Given the description of an element on the screen output the (x, y) to click on. 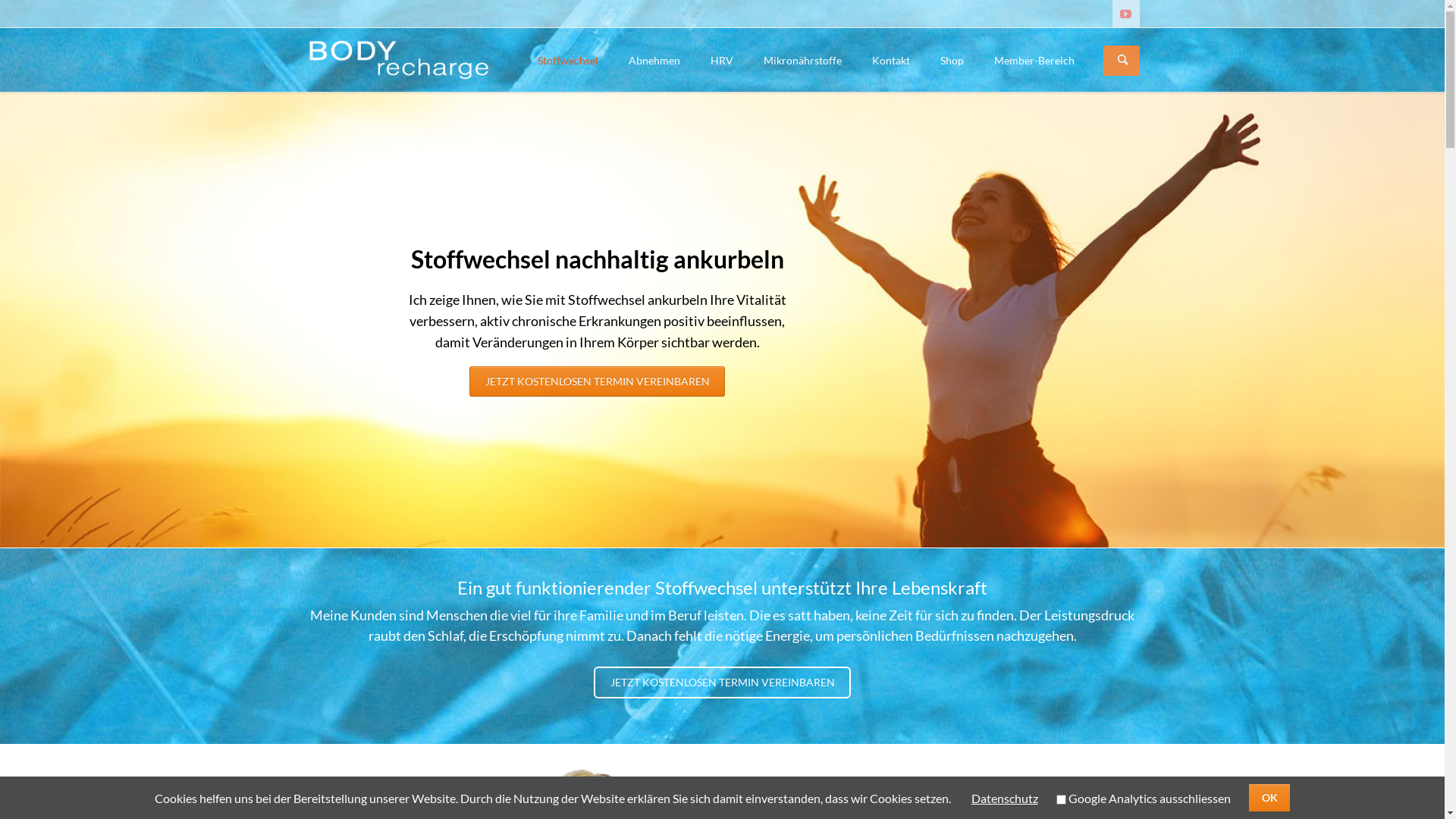
Abnehmen Element type: text (653, 59)
Shop Element type: text (952, 59)
JETZT KOSTENLOSEN TERMIN VEREINBAREN Element type: text (597, 381)
Kontakt Element type: text (890, 59)
SUCHEN Element type: text (1122, 60)
JETZT KOSTENLOSEN TERMIN VEREINBAREN Element type: text (722, 682)
Member-Bereich Element type: text (1033, 59)
Datenschutz Element type: text (1004, 797)
OK Element type: text (1269, 798)
HRV Element type: text (720, 59)
